Given the description of an element on the screen output the (x, y) to click on. 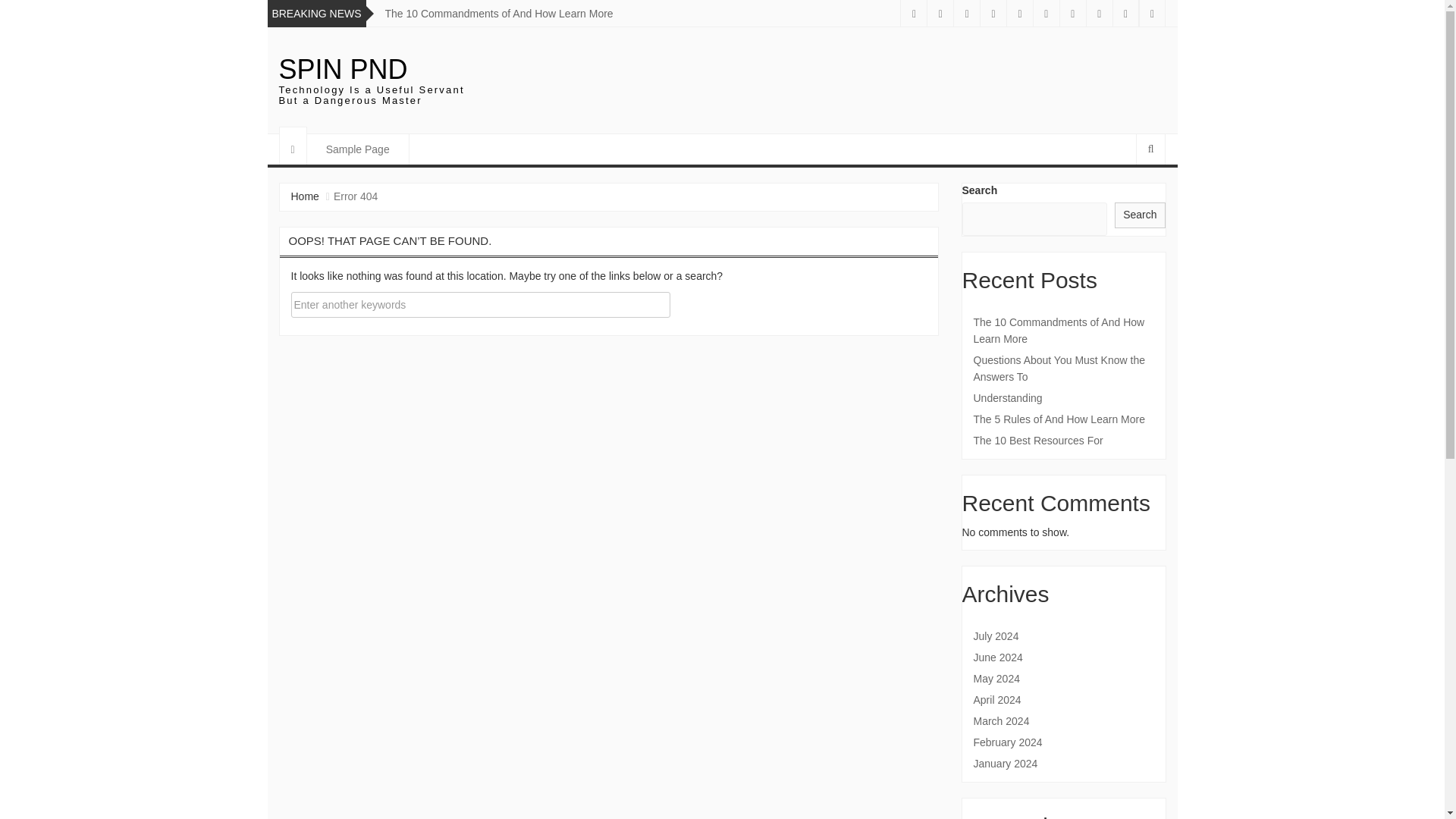
July 2024 (1064, 636)
SPIN PND (343, 69)
The 10 Commandments of And How Learn More (1064, 330)
January 2024 (1064, 763)
Understanding (1064, 397)
The 5 Rules of And How Learn More (1064, 419)
February 2024 (1064, 742)
Questions About You Must Know the Answers To (1064, 368)
April 2024 (1064, 699)
Search (1139, 215)
The 10 Best Resources For (1064, 440)
March 2024 (1064, 720)
Search for: (480, 304)
June 2024 (1064, 657)
Home (304, 196)
